Given the description of an element on the screen output the (x, y) to click on. 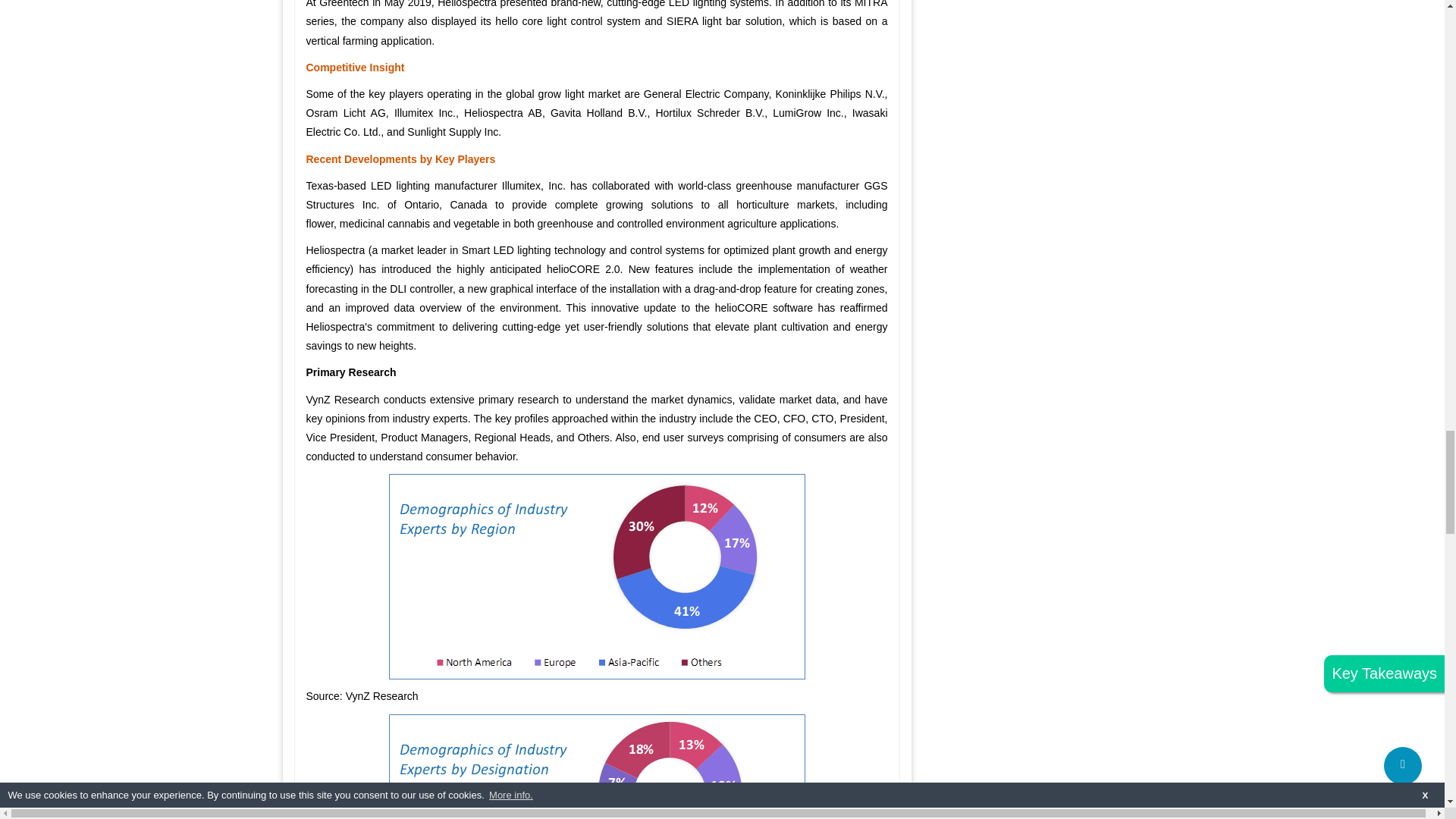
Grow Light Market Analysis (596, 766)
Grow Light Market Size (596, 576)
